Given the description of an element on the screen output the (x, y) to click on. 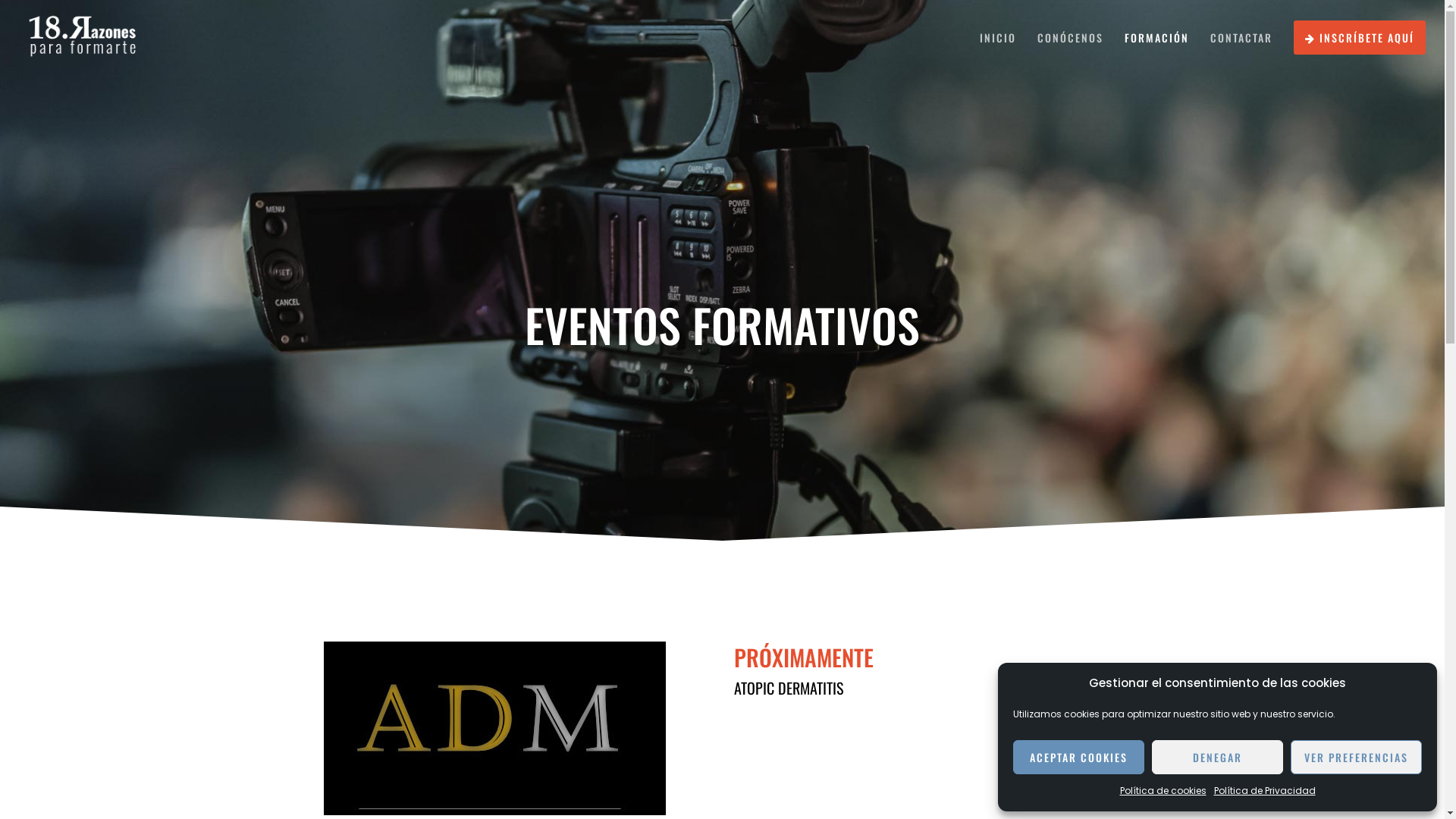
INICIO Element type: text (987, 37)
686 192 689 Element type: text (768, 709)
DENEGAR Element type: text (1217, 757)
610 415 999 Element type: text (677, 709)
  Element type: text (763, 786)
ACEPTAR COOKIES Element type: text (1078, 757)
CONTACTAR Element type: text (1230, 37)
VER PREFERENCIAS Element type: text (1355, 757)
secretaria18ri@18razonesimprescindibles.com Element type: text (723, 730)
Aviso Legal Element type: text (615, 786)
